Given the description of an element on the screen output the (x, y) to click on. 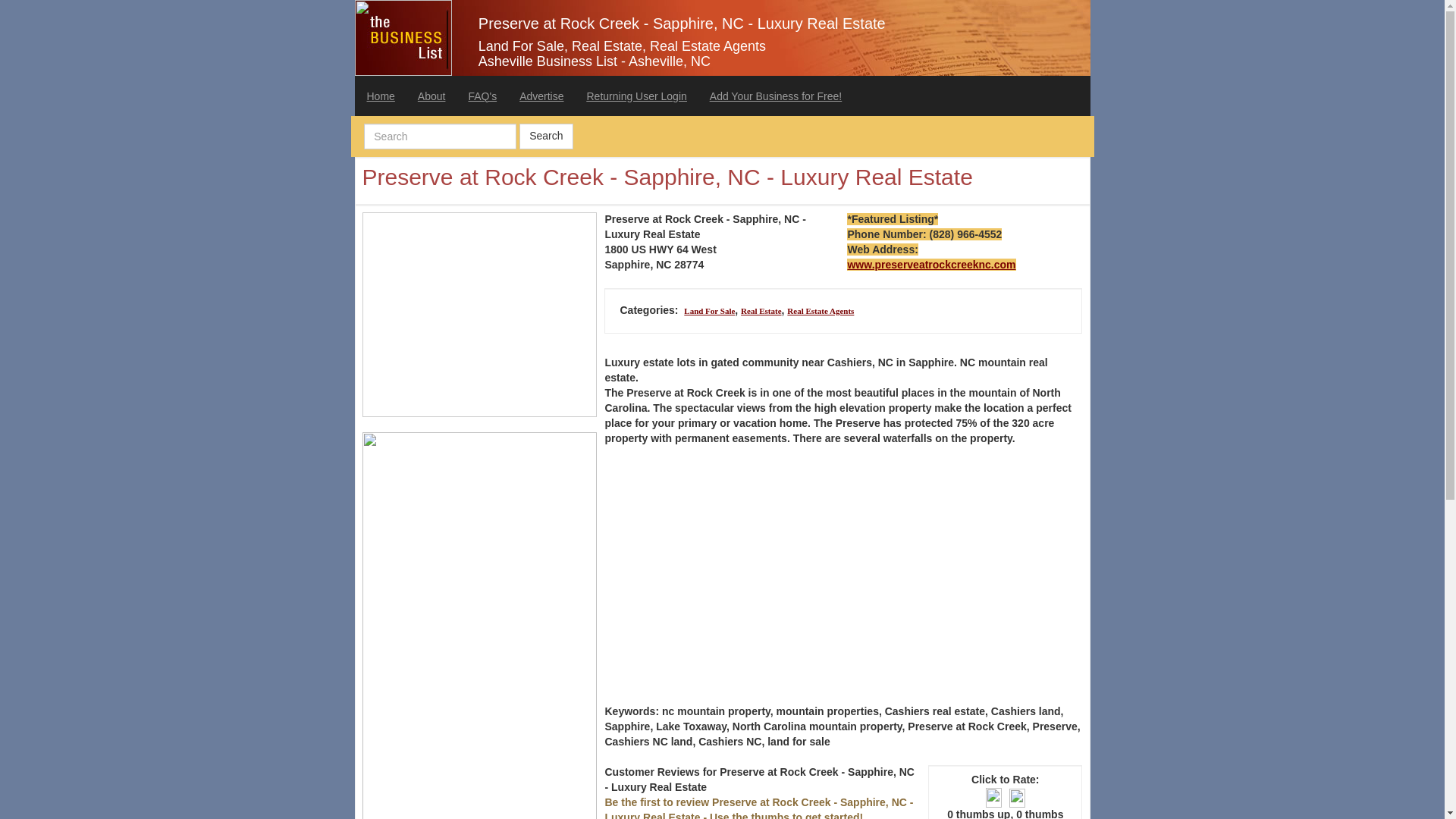
Home (380, 95)
Add Your Business for Free! (775, 95)
Returning User Login (636, 95)
Real Estate Agents (820, 310)
Advertise (541, 95)
FAQ's (482, 95)
Real Estate (760, 310)
About (431, 95)
Search (545, 136)
www.preserveatrockcreeknc.com (930, 264)
Advertisement (842, 567)
Land For Sale (709, 310)
